Given the description of an element on the screen output the (x, y) to click on. 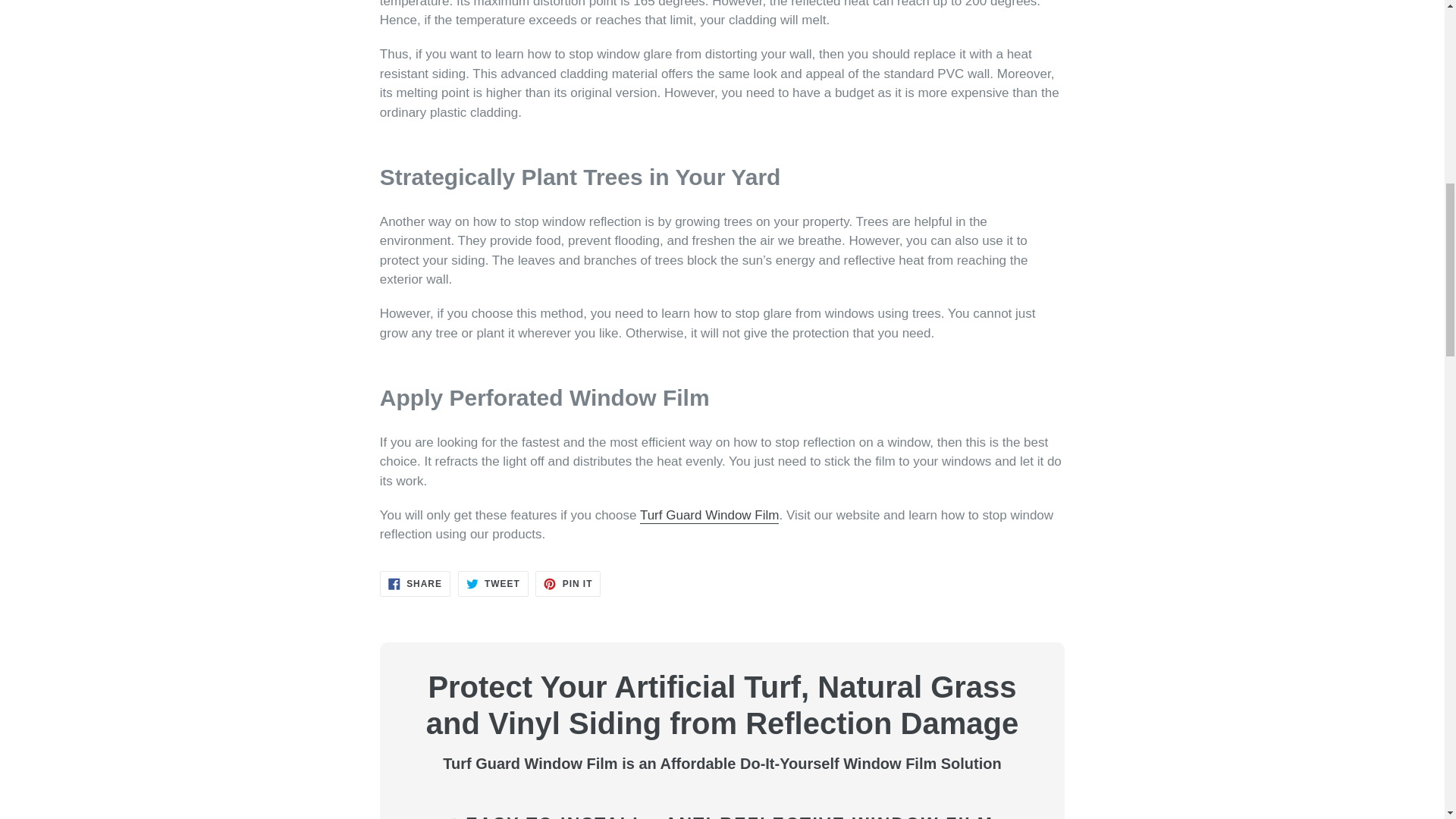
Tweet on Twitter (493, 583)
Pin on Pinterest (567, 583)
Share on Facebook (414, 583)
